Given the description of an element on the screen output the (x, y) to click on. 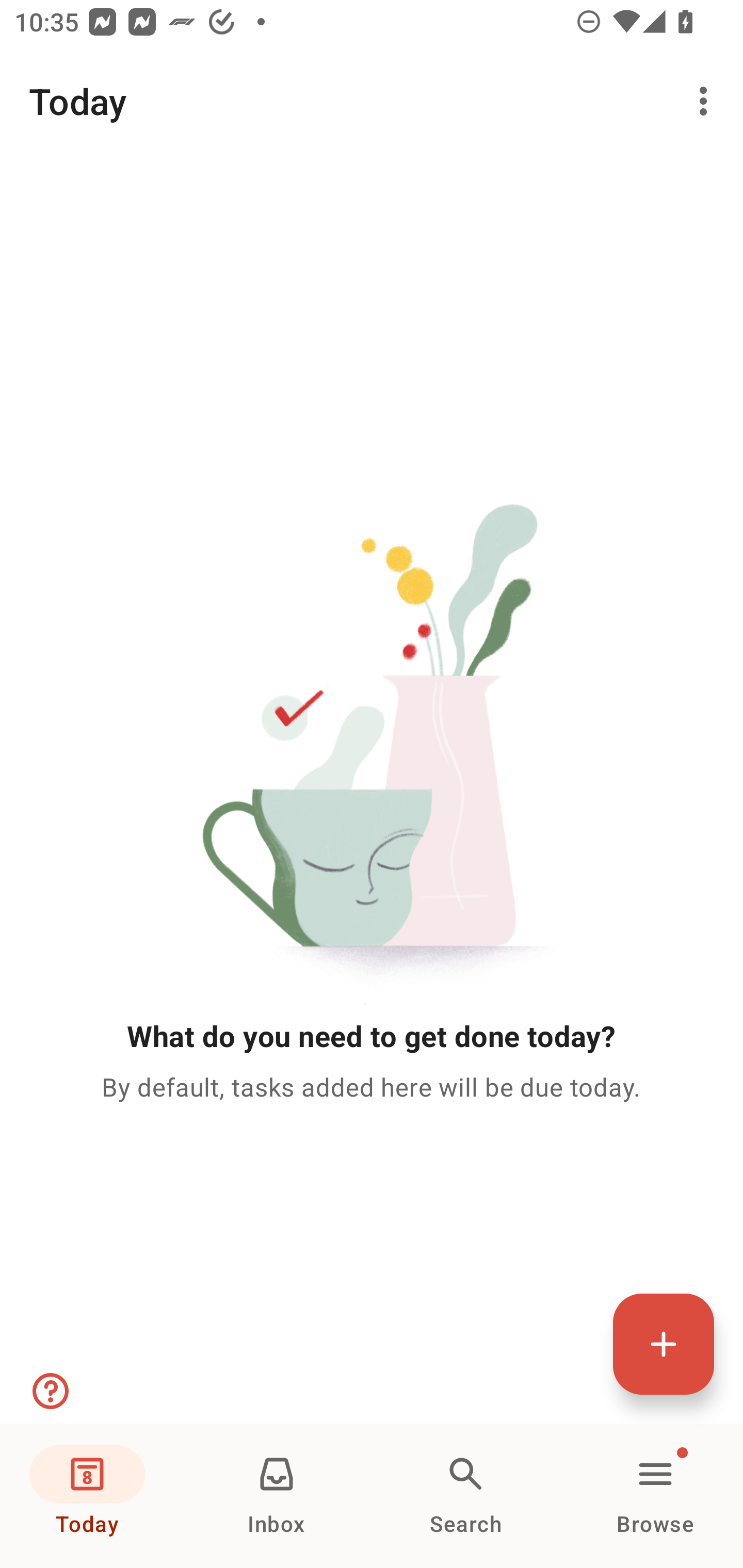
Today More options (371, 100)
More options (706, 101)
Quick add (663, 1343)
How to plan your day (48, 1390)
Inbox (276, 1495)
Search (465, 1495)
Browse (655, 1495)
